Given the description of an element on the screen output the (x, y) to click on. 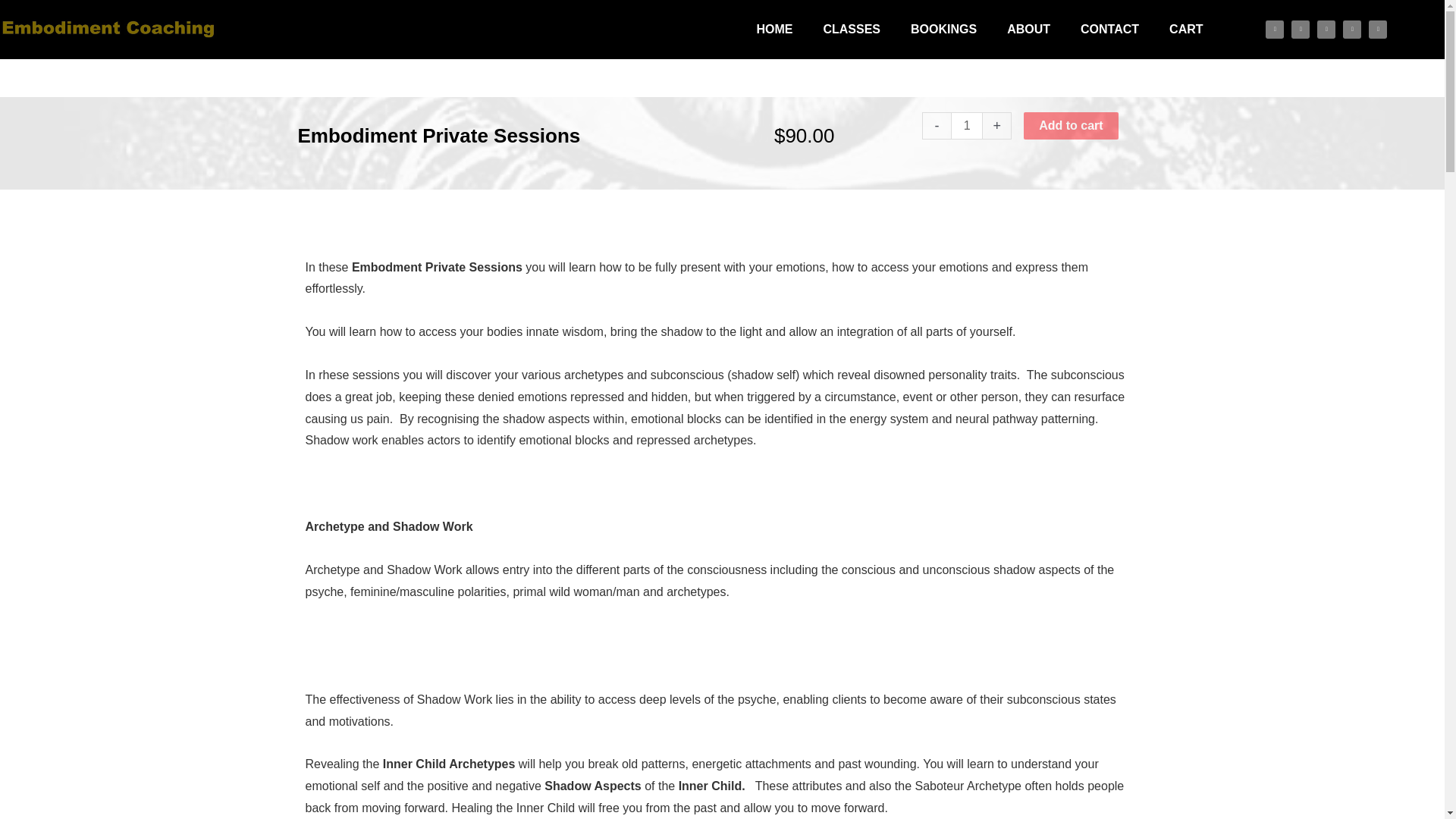
Twitter (1299, 29)
ABOUT (1028, 29)
- (935, 125)
HOME (774, 29)
Rss (1377, 29)
BOOKINGS (943, 29)
Pinterest (1351, 29)
CART (1185, 29)
Add to cart (1070, 125)
CLASSES (851, 29)
1 (966, 125)
Facebook (1274, 29)
CONTACT (1109, 29)
Youtube (1326, 29)
